Given the description of an element on the screen output the (x, y) to click on. 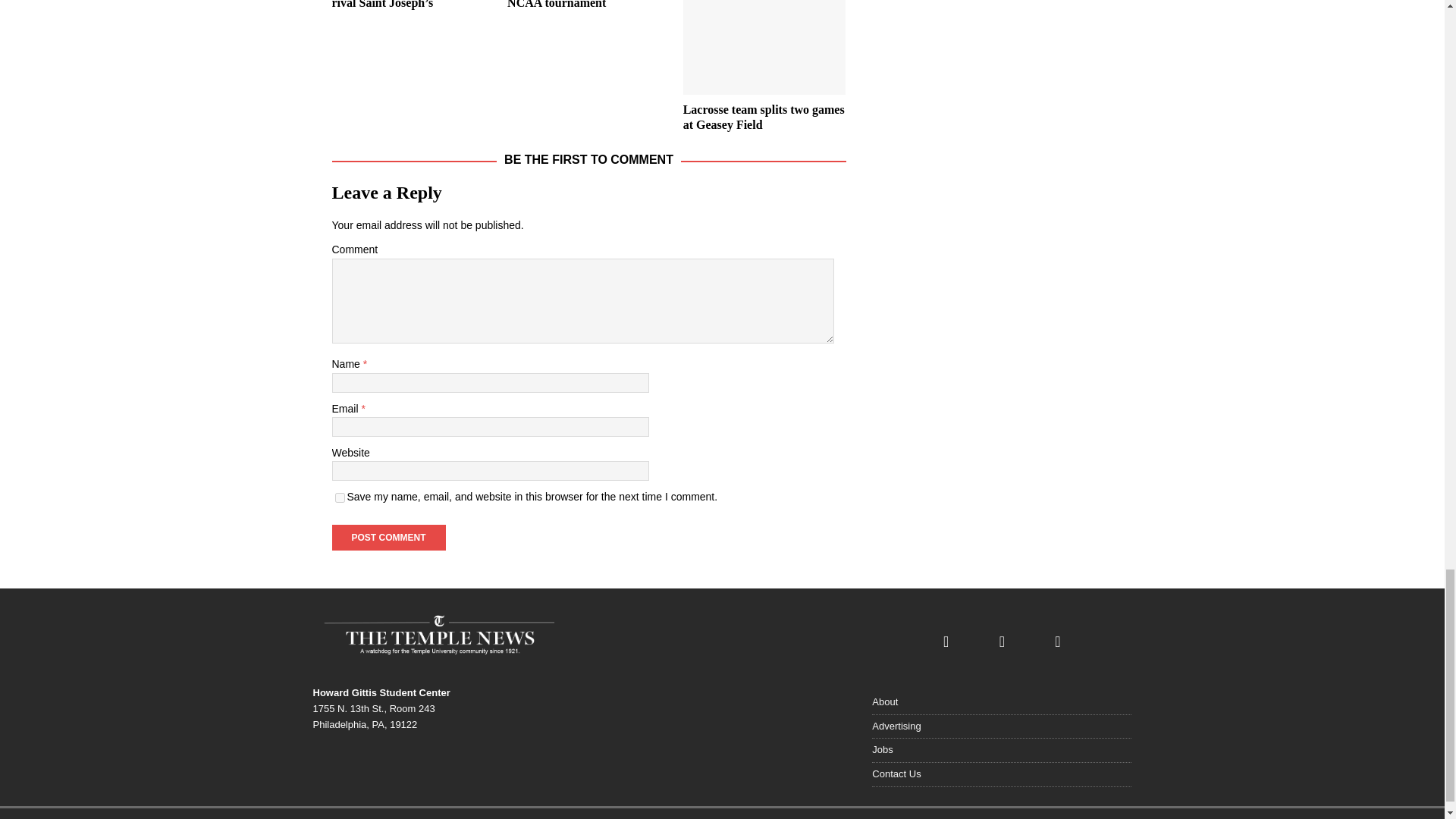
yes (339, 497)
Post Comment (388, 537)
